Given the description of an element on the screen output the (x, y) to click on. 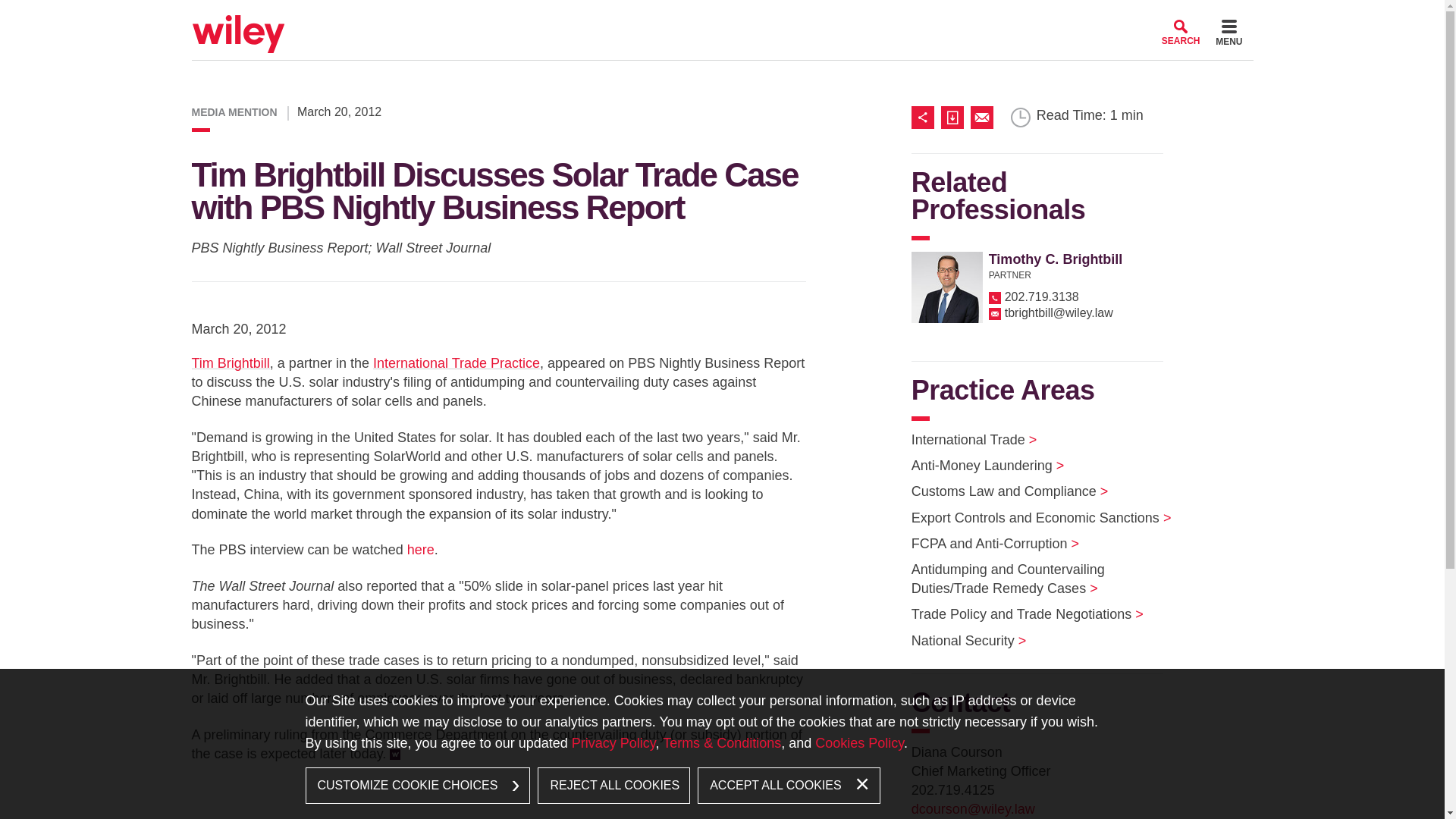
Email (981, 117)
MENU (1228, 34)
Menu (676, 17)
SEARCH (1180, 32)
Main Content (669, 17)
Share (925, 117)
Main Menu (676, 17)
Cookie Settings (663, 17)
Menu (1228, 34)
